Given the description of an element on the screen output the (x, y) to click on. 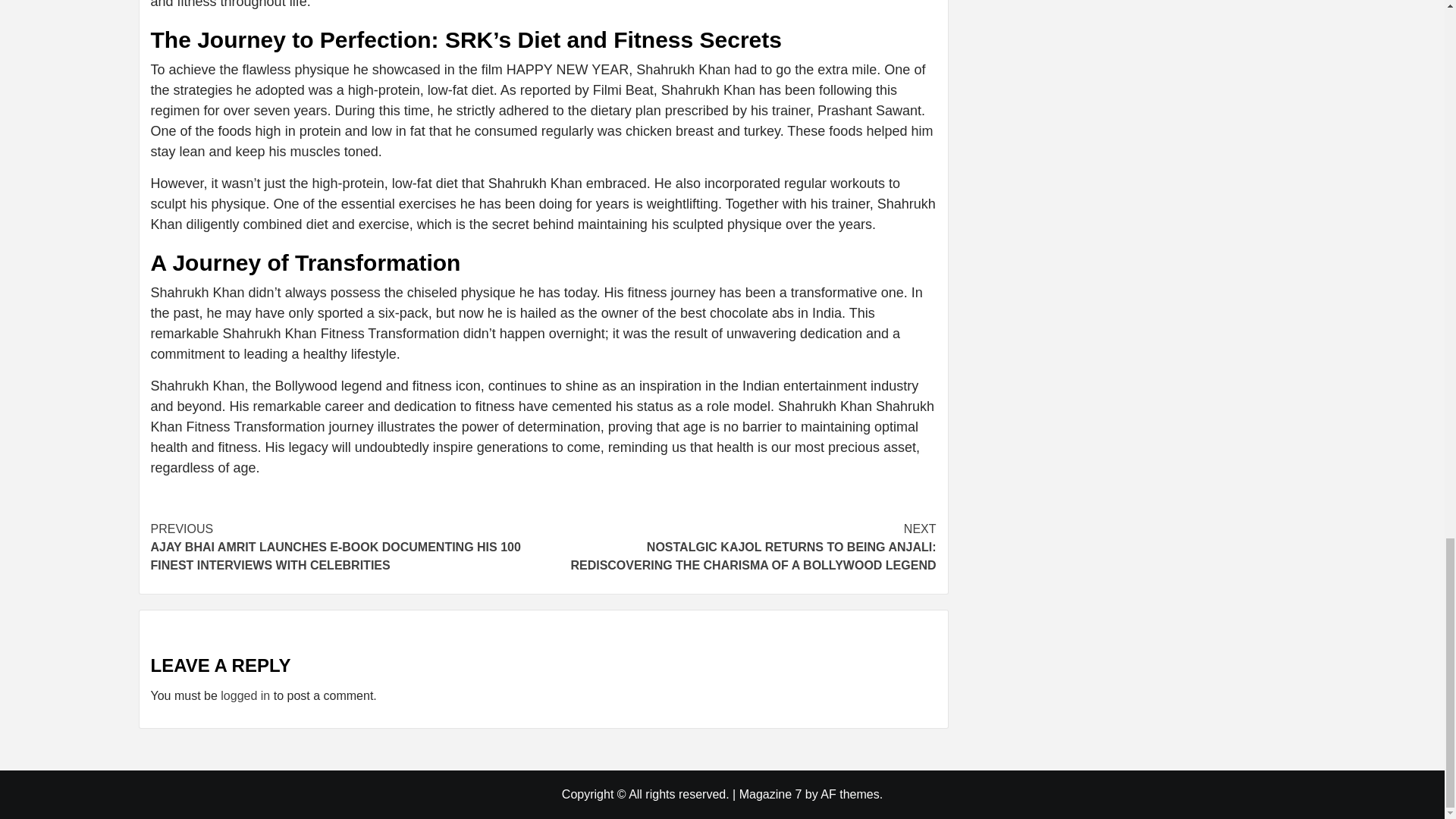
logged in (245, 695)
